Given the description of an element on the screen output the (x, y) to click on. 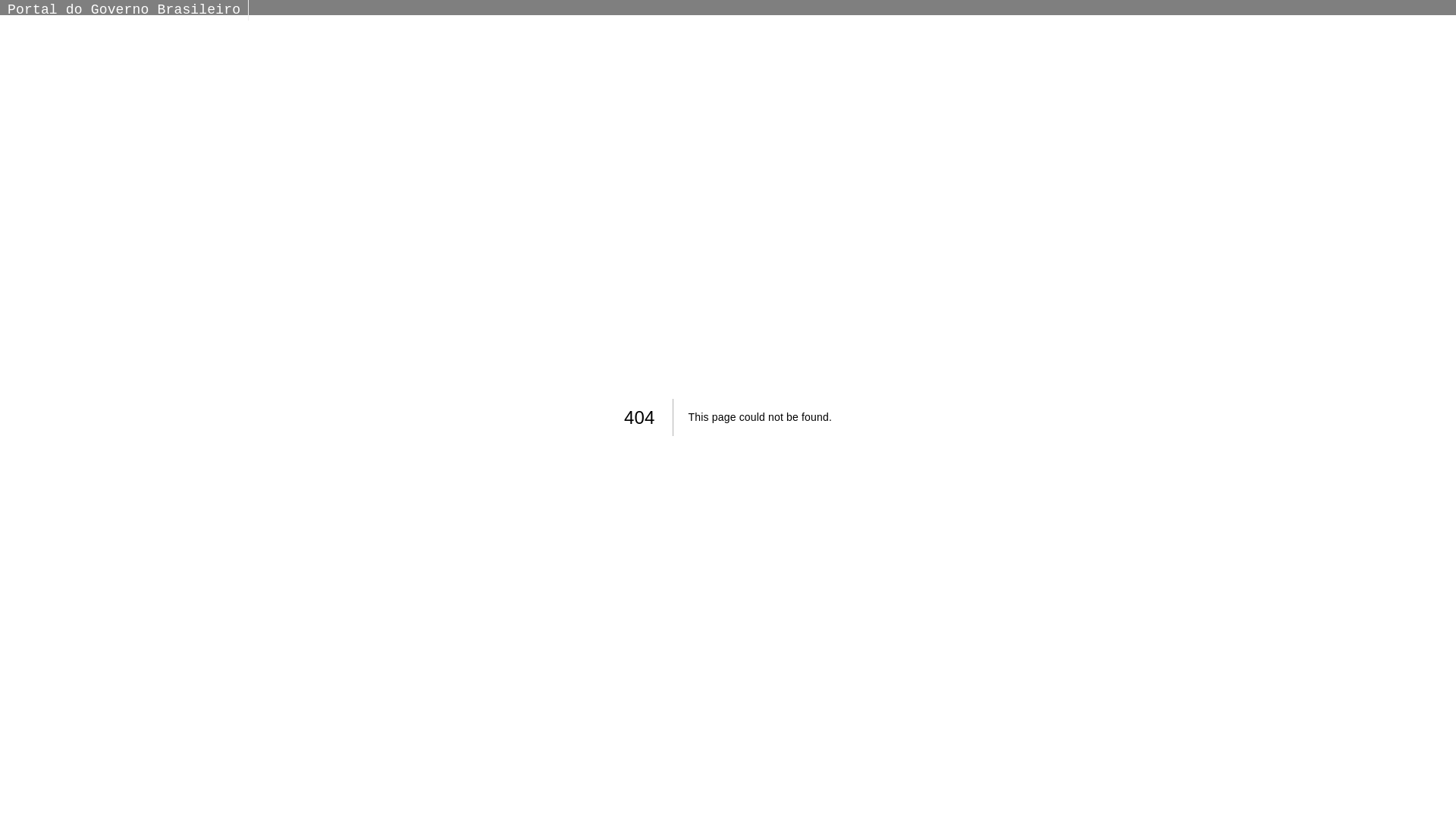
Portal do Governo Brasileiro Element type: text (123, 9)
